Given the description of an element on the screen output the (x, y) to click on. 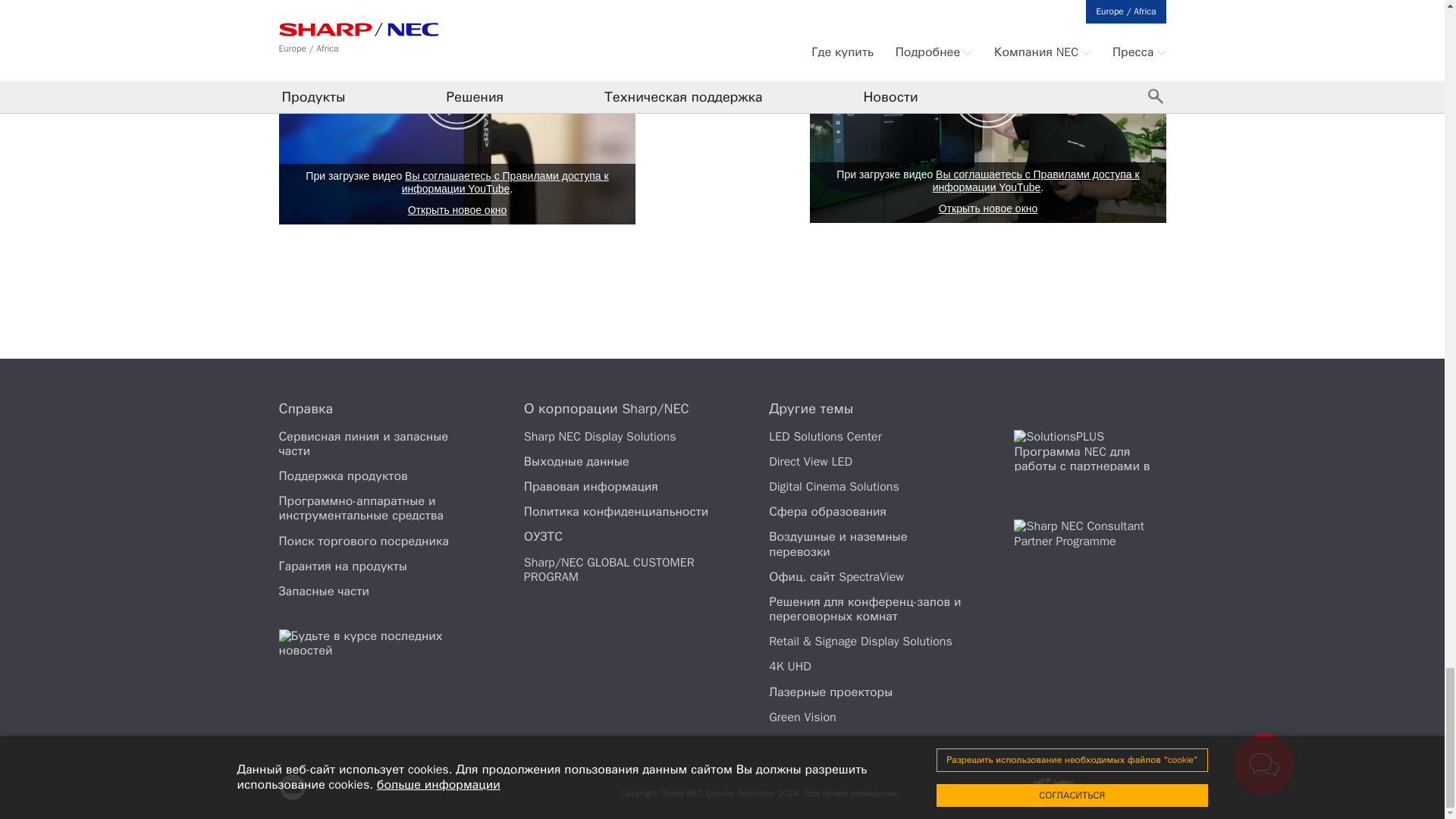
4K UHD (789, 666)
Sharp NEC YouTube channel (292, 786)
Green Vision (801, 717)
Direct View LED (809, 461)
Digital Cinema Solutions (833, 486)
Sharp NEC Consultant Partner Programme (1089, 539)
LED Solutions Center (825, 436)
